Given the description of an element on the screen output the (x, y) to click on. 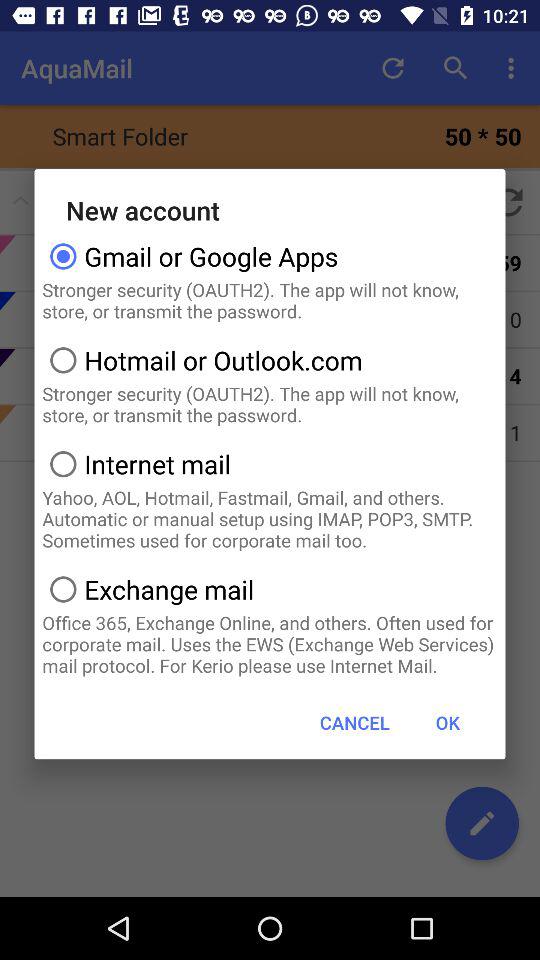
click the ok (447, 722)
